Given the description of an element on the screen output the (x, y) to click on. 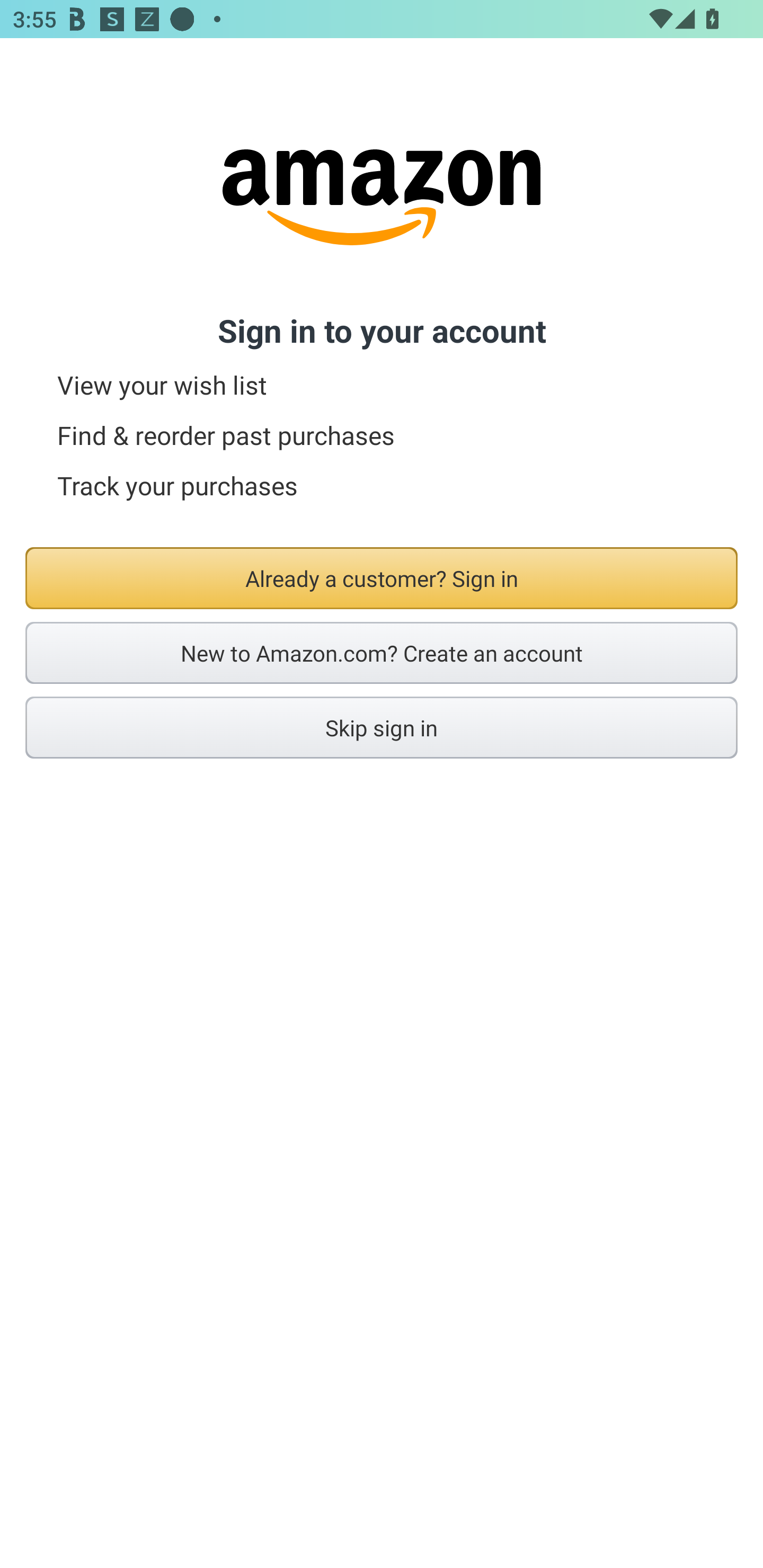
Already a customer? Sign in (381, 578)
New to Amazon.com? Create an account (381, 652)
Skip sign in (381, 727)
